Given the description of an element on the screen output the (x, y) to click on. 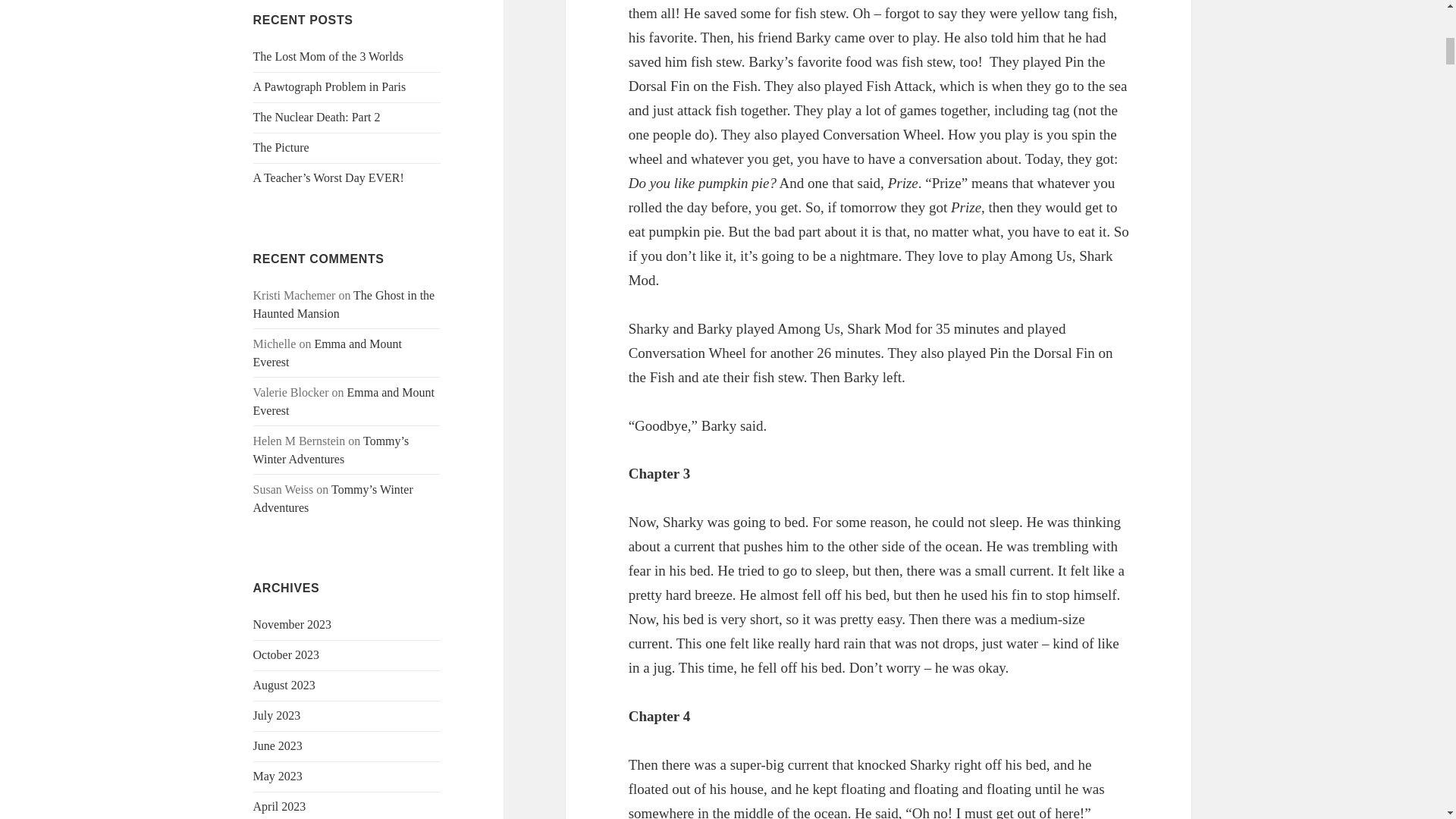
May 2023 (277, 775)
October 2023 (286, 654)
The Ghost in the Haunted Mansion (344, 304)
The Lost Mom of the 3 Worlds (328, 56)
The Picture (280, 146)
April 2023 (279, 806)
The Nuclear Death: Part 2 (316, 116)
Emma and Mount Everest (327, 352)
August 2023 (284, 684)
A Pawtograph Problem in Paris (329, 86)
July 2023 (277, 715)
Emma and Mount Everest (344, 400)
June 2023 (277, 745)
November 2023 (292, 624)
